Given the description of an element on the screen output the (x, y) to click on. 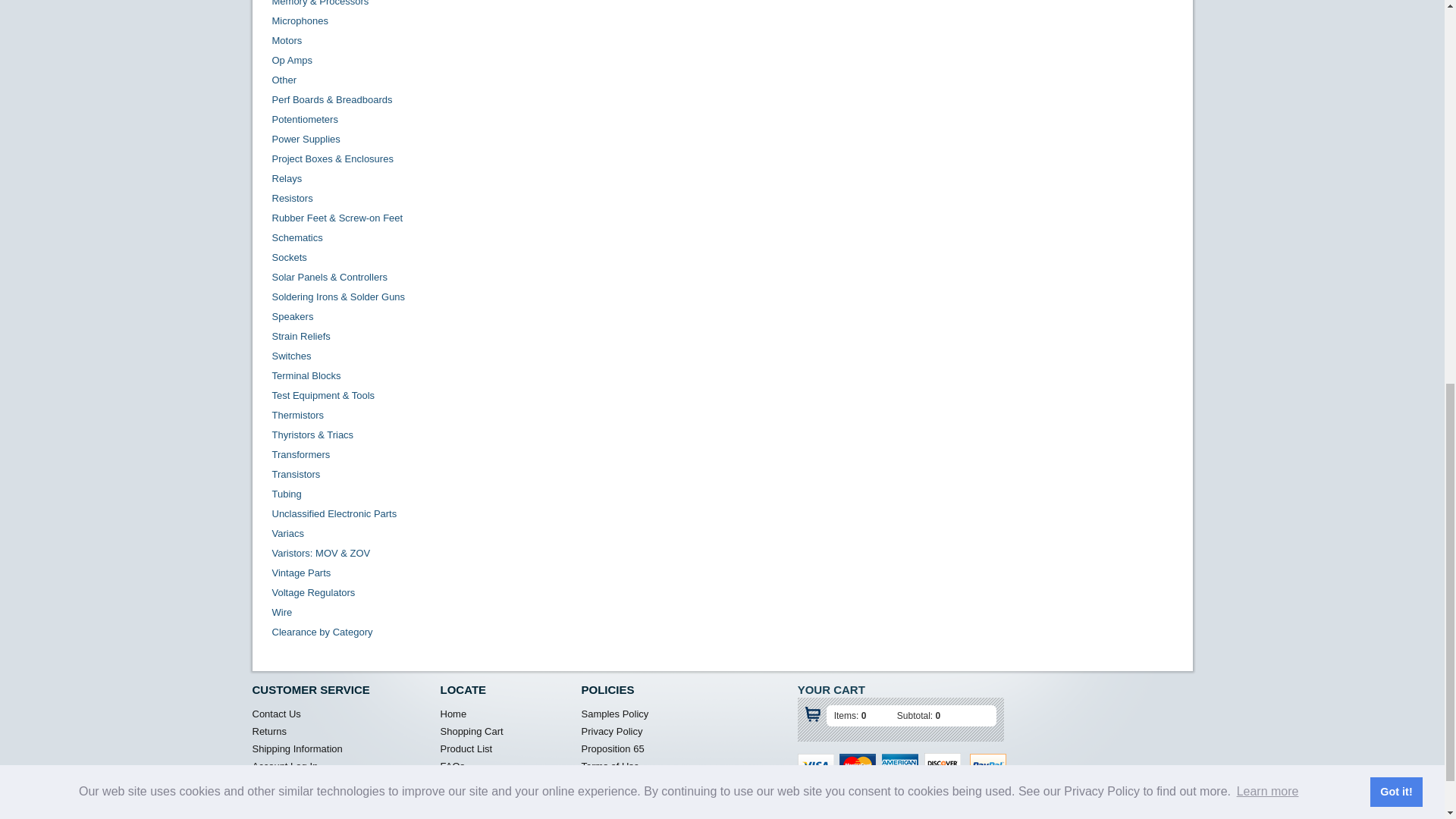
Got it! (1396, 24)
Learn more (1266, 24)
